Given the description of an element on the screen output the (x, y) to click on. 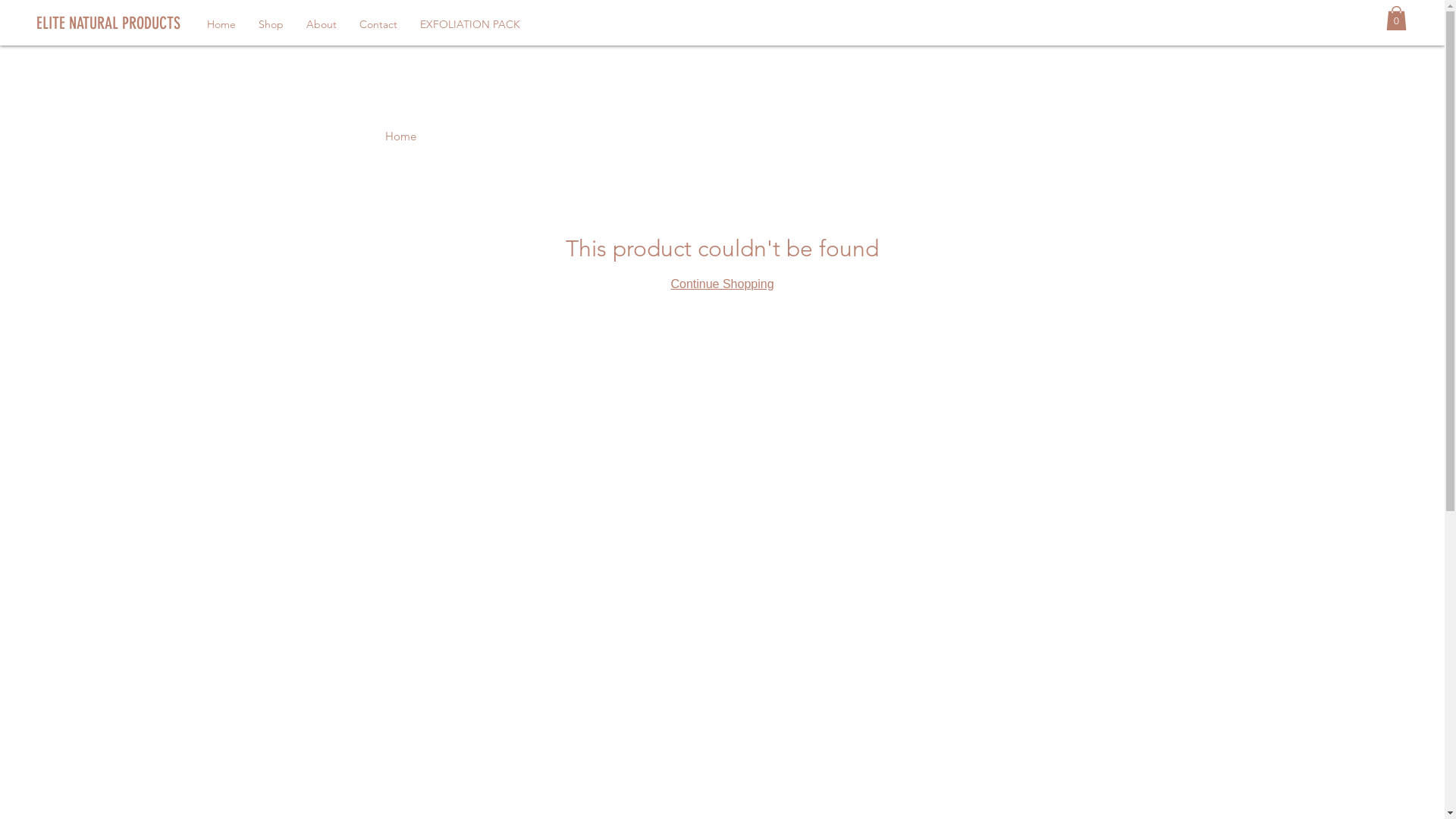
Home Element type: text (221, 24)
0 Element type: text (1396, 18)
Contact Element type: text (378, 24)
ELITE NATURAL PRODUCTS Element type: text (149, 23)
EXFOLIATION PACK Element type: text (469, 24)
About Element type: text (321, 24)
Shop Element type: text (270, 24)
Continue Shopping Element type: text (721, 283)
Home Element type: text (400, 135)
